Given the description of an element on the screen output the (x, y) to click on. 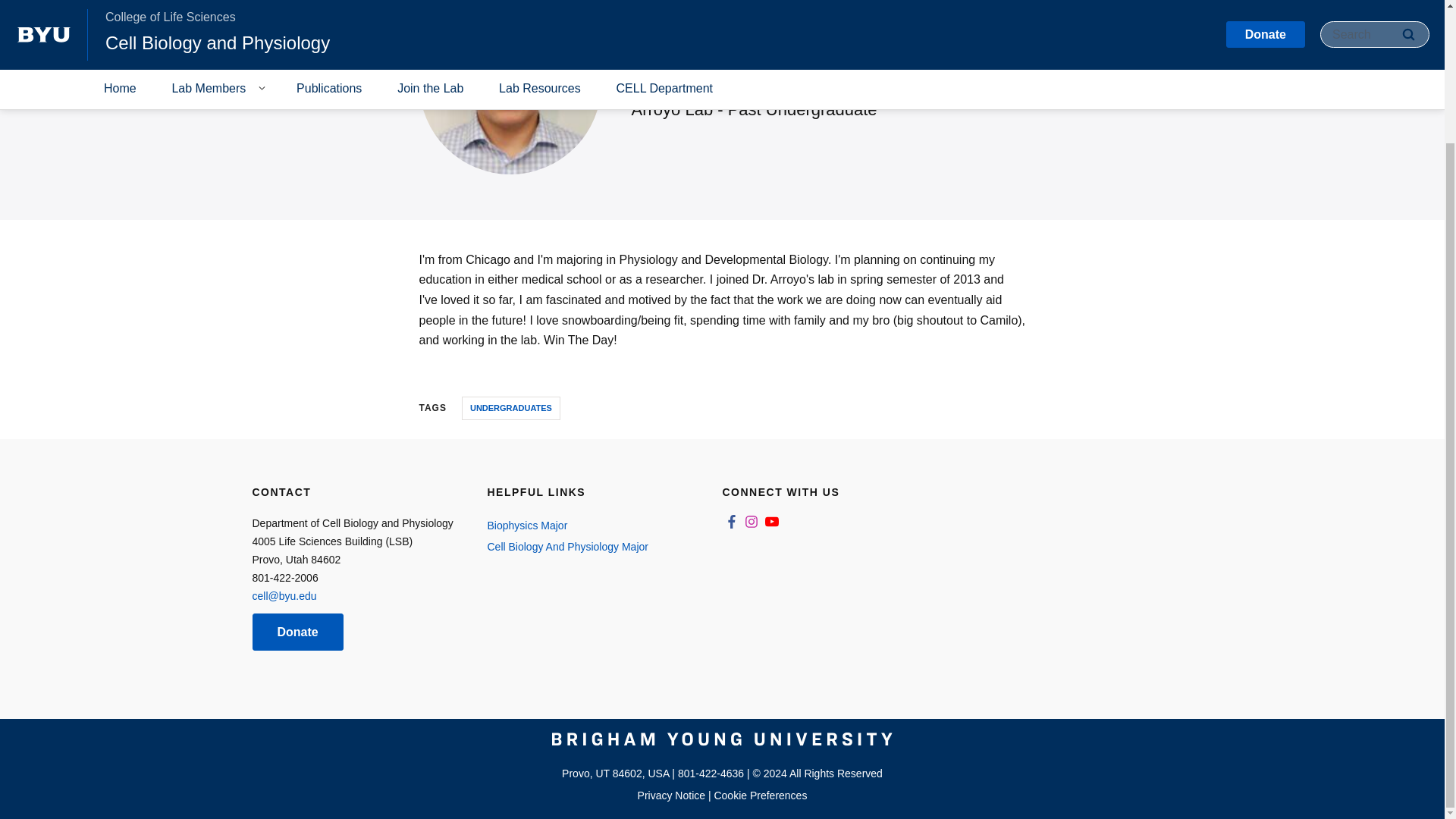
Biophysics Major (588, 525)
Privacy Notice (670, 795)
Link to facebook (730, 521)
UNDERGRADUATES (510, 408)
Link to instagram (751, 521)
Cookie Preferences (759, 795)
Link to youtube (771, 521)
Donate (296, 631)
Cell Biology And Physiology Major (588, 546)
